Given the description of an element on the screen output the (x, y) to click on. 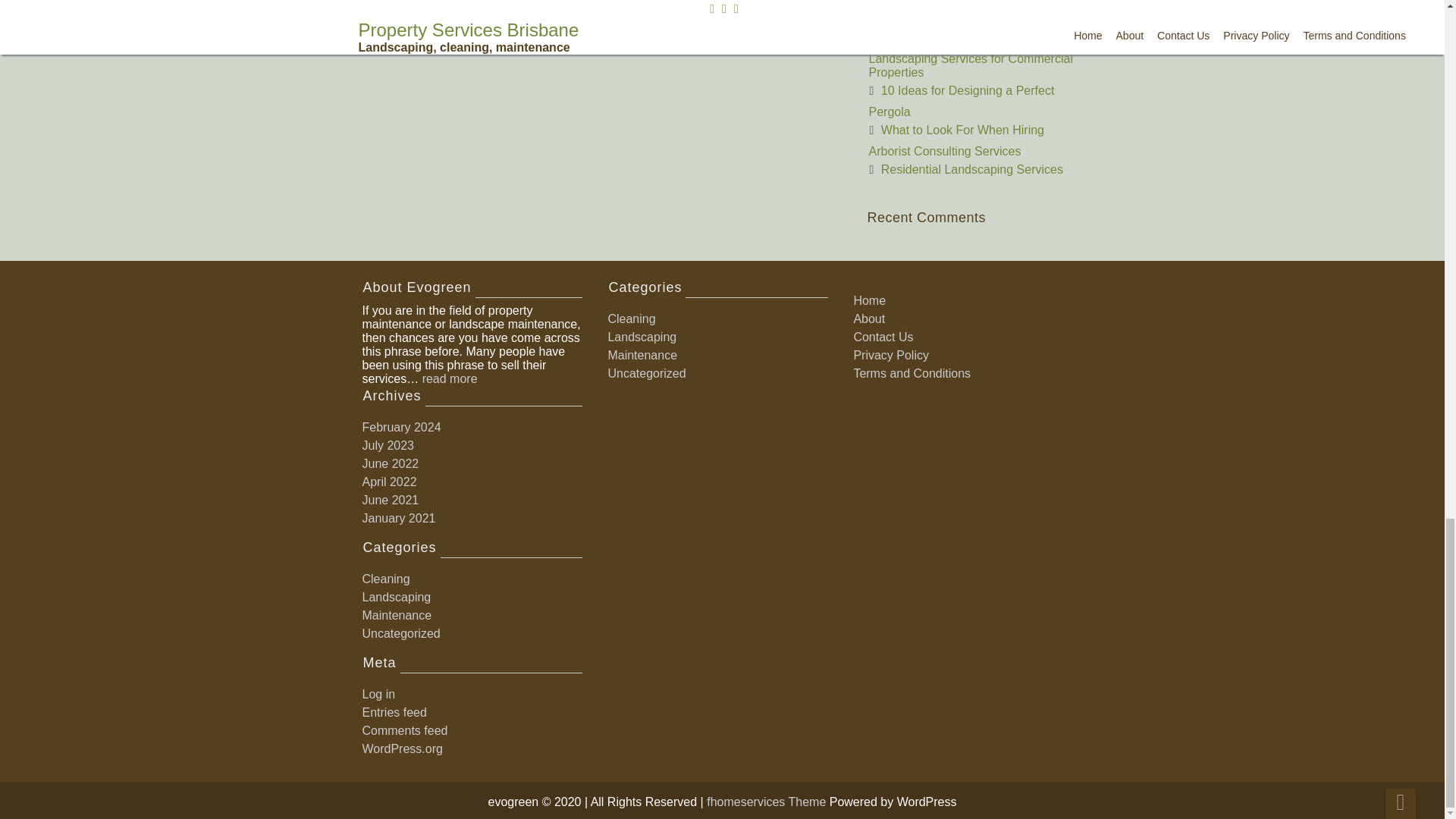
June 2022 (390, 463)
10 Ideas for Designing a Perfect Pergola (961, 100)
Residential Landscaping Services (971, 169)
June 2021 (390, 499)
fhomeservices Theme (767, 801)
What to Look For When Hiring Arborist Consulting Services (957, 140)
April 2022 (389, 481)
July 2023 (388, 445)
February 2024 (401, 427)
